Given the description of an element on the screen output the (x, y) to click on. 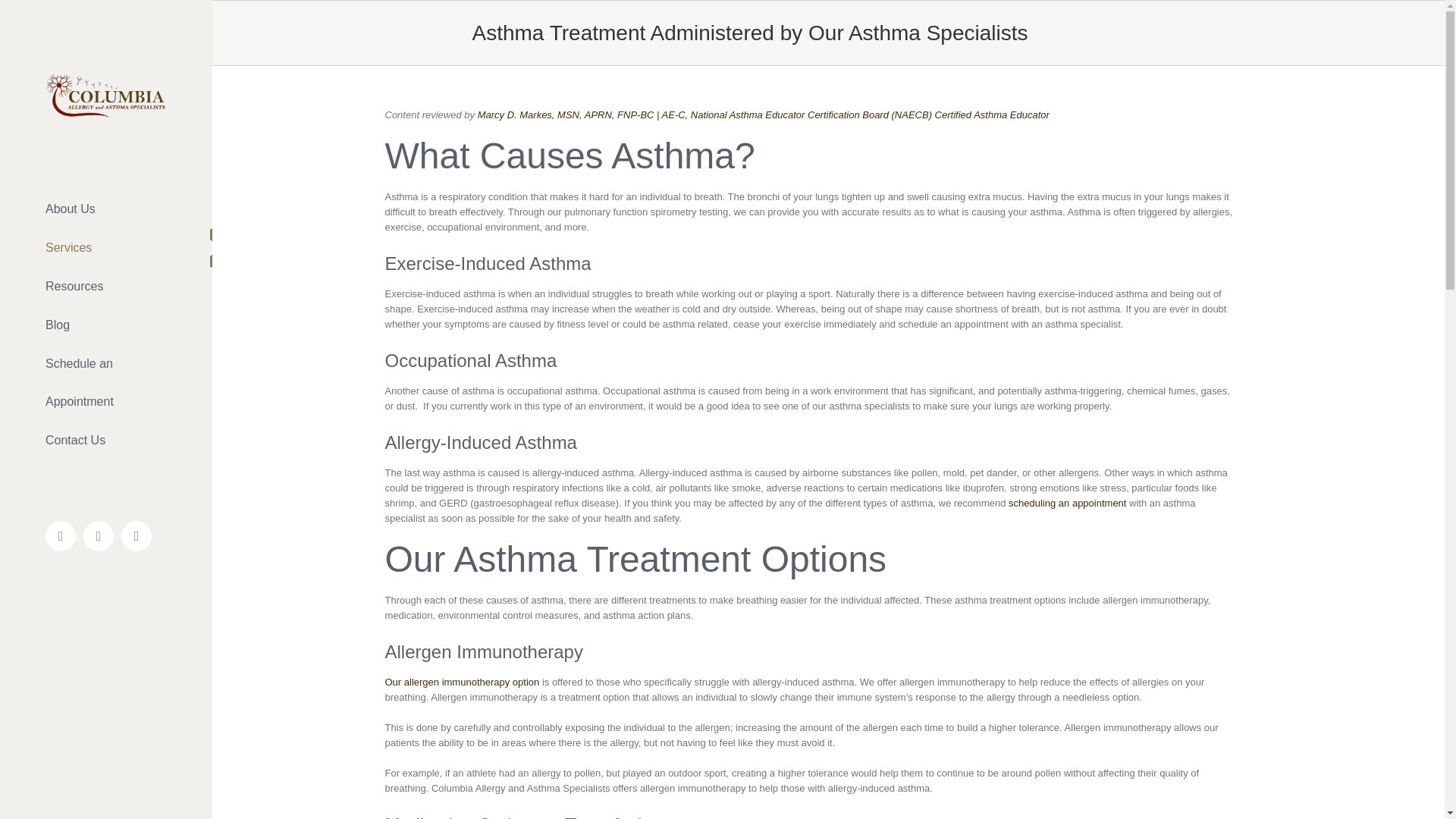
About Us (106, 209)
Resources (106, 286)
Blog (106, 325)
Instagram (135, 535)
Facebook (60, 535)
Instagram (135, 535)
Twitter (97, 535)
Facebook (60, 535)
Schedule an Appointment (106, 382)
Contact Us (106, 440)
Twitter (97, 535)
Services (106, 248)
